Given the description of an element on the screen output the (x, y) to click on. 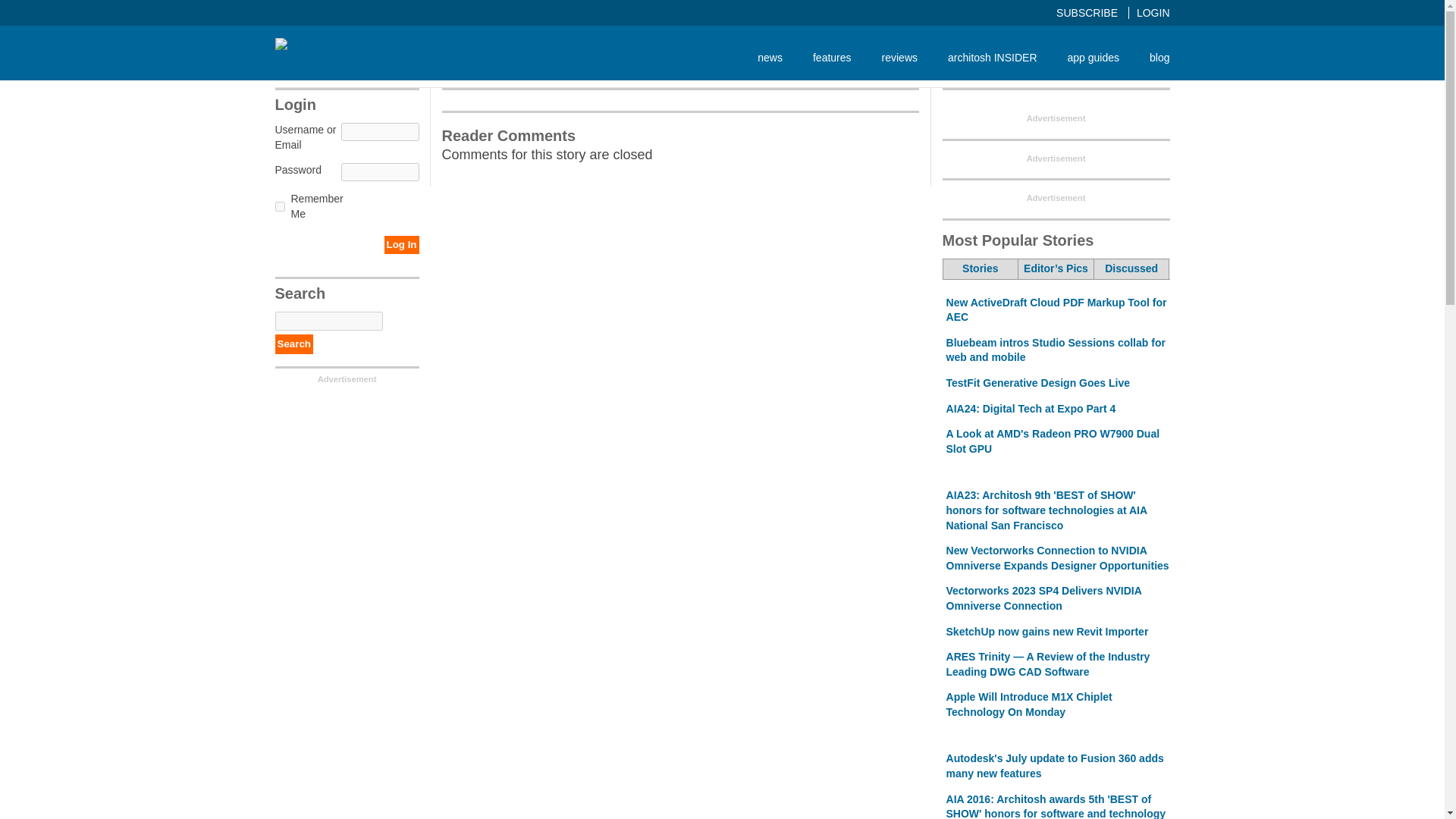
app guides (1093, 56)
forever (279, 206)
architosh INSIDER (992, 56)
reviews (899, 56)
news (769, 56)
SUBSCRIBE (1093, 12)
Home (305, 44)
Stories (980, 269)
Log In (401, 244)
blog (1151, 56)
Architosh (305, 45)
Search (294, 343)
LOGIN (1153, 12)
Log In (401, 244)
features (831, 56)
